Given the description of an element on the screen output the (x, y) to click on. 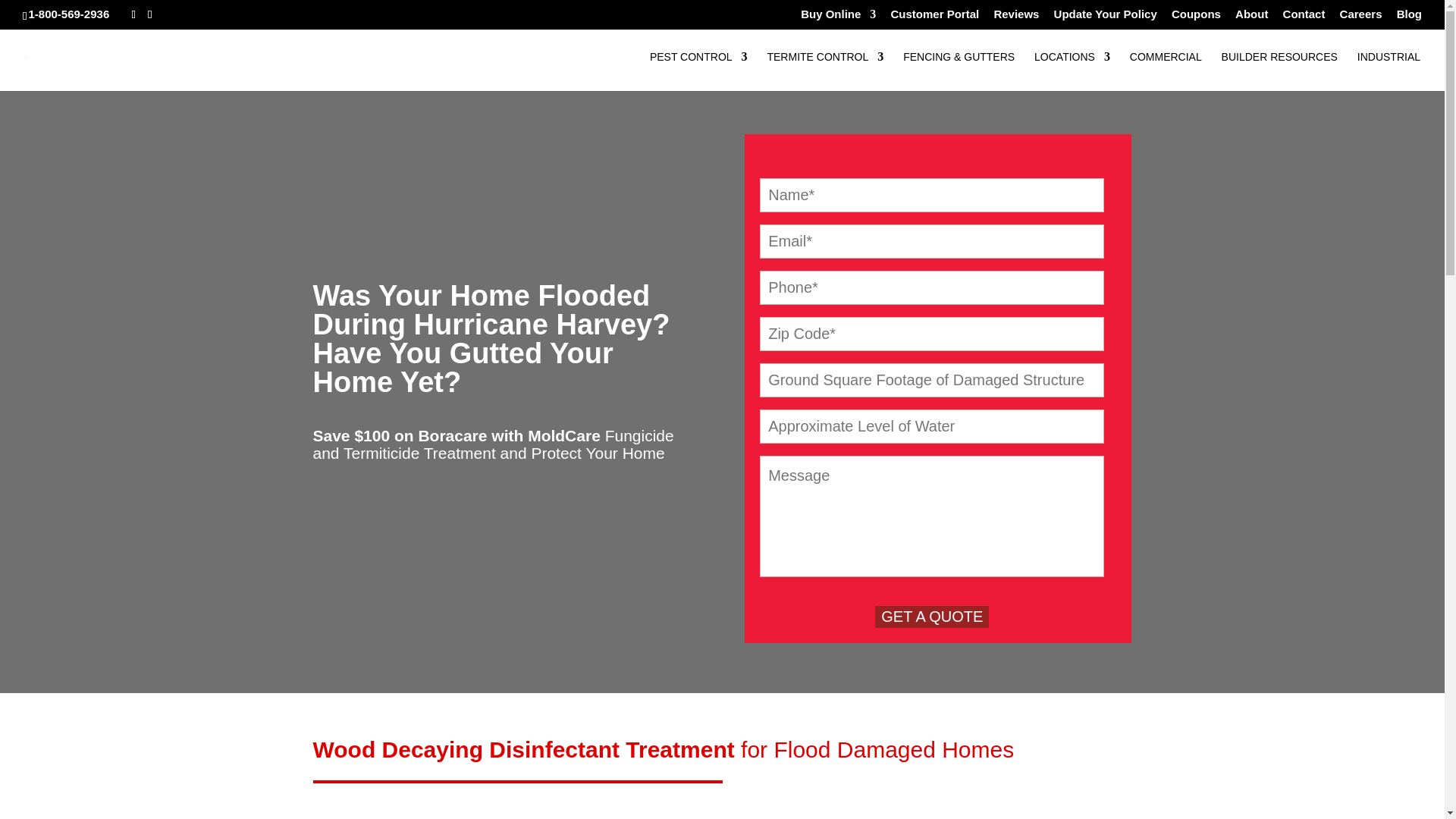
TERMITE CONTROL (825, 70)
Coupons (1196, 17)
PEST CONTROL (698, 70)
Get a Quote (931, 617)
Blog (1409, 17)
Contact (1303, 17)
About (1251, 17)
Customer Portal (933, 17)
Update Your Policy (1105, 17)
Buy Online (838, 17)
Careers (1360, 17)
Reviews (1015, 17)
